Given the description of an element on the screen output the (x, y) to click on. 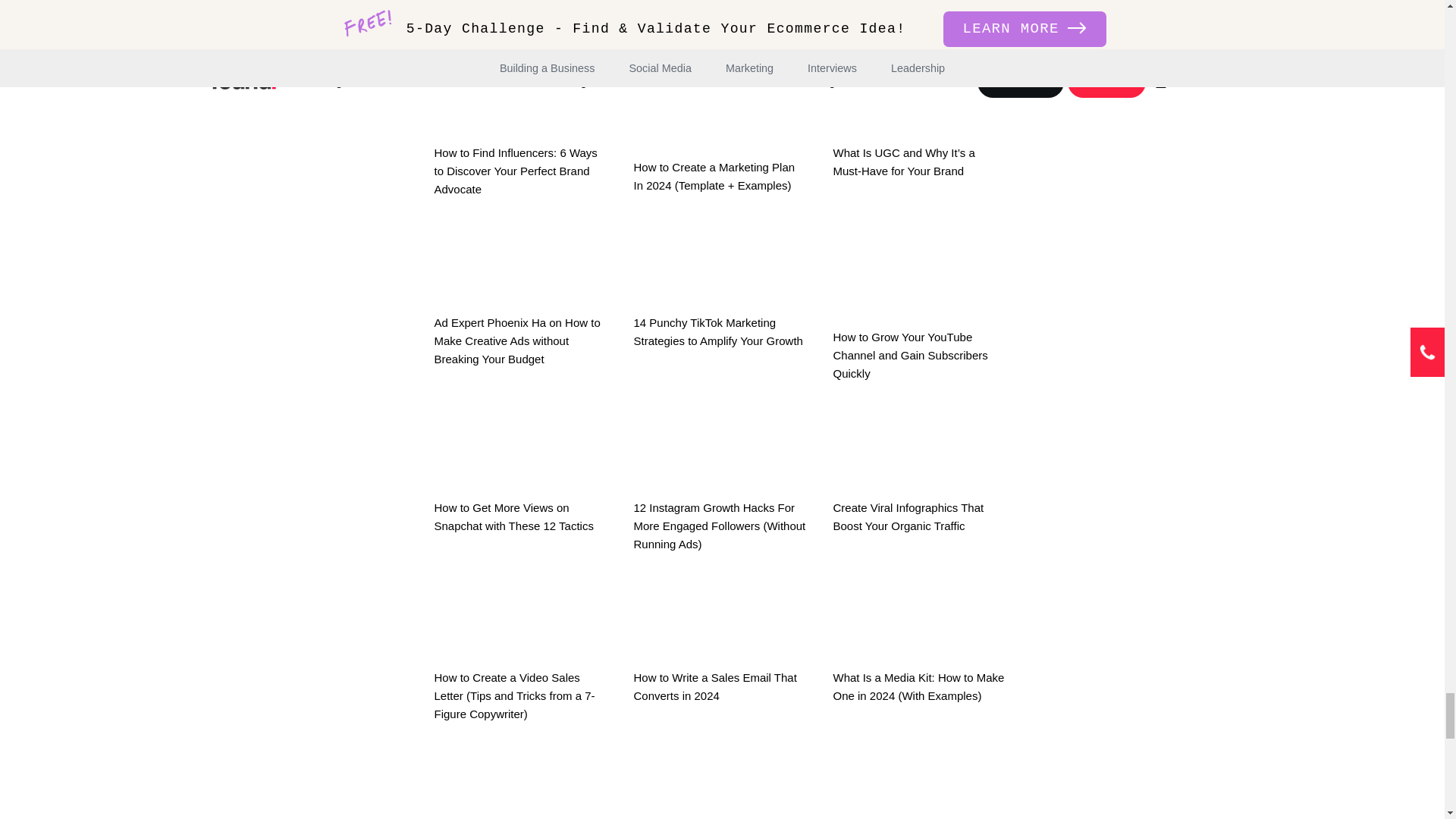
14 Punchy TikTok Marketing Strategies to Amplify Your Growth (719, 285)
How to Write a Sales Email That Converts in 2024 (719, 640)
Create Viral Infographics That Boost Your Organic Traffic (919, 470)
How to Get More Views on Snapchat with These 12 Tactics (520, 470)
